Given the description of an element on the screen output the (x, y) to click on. 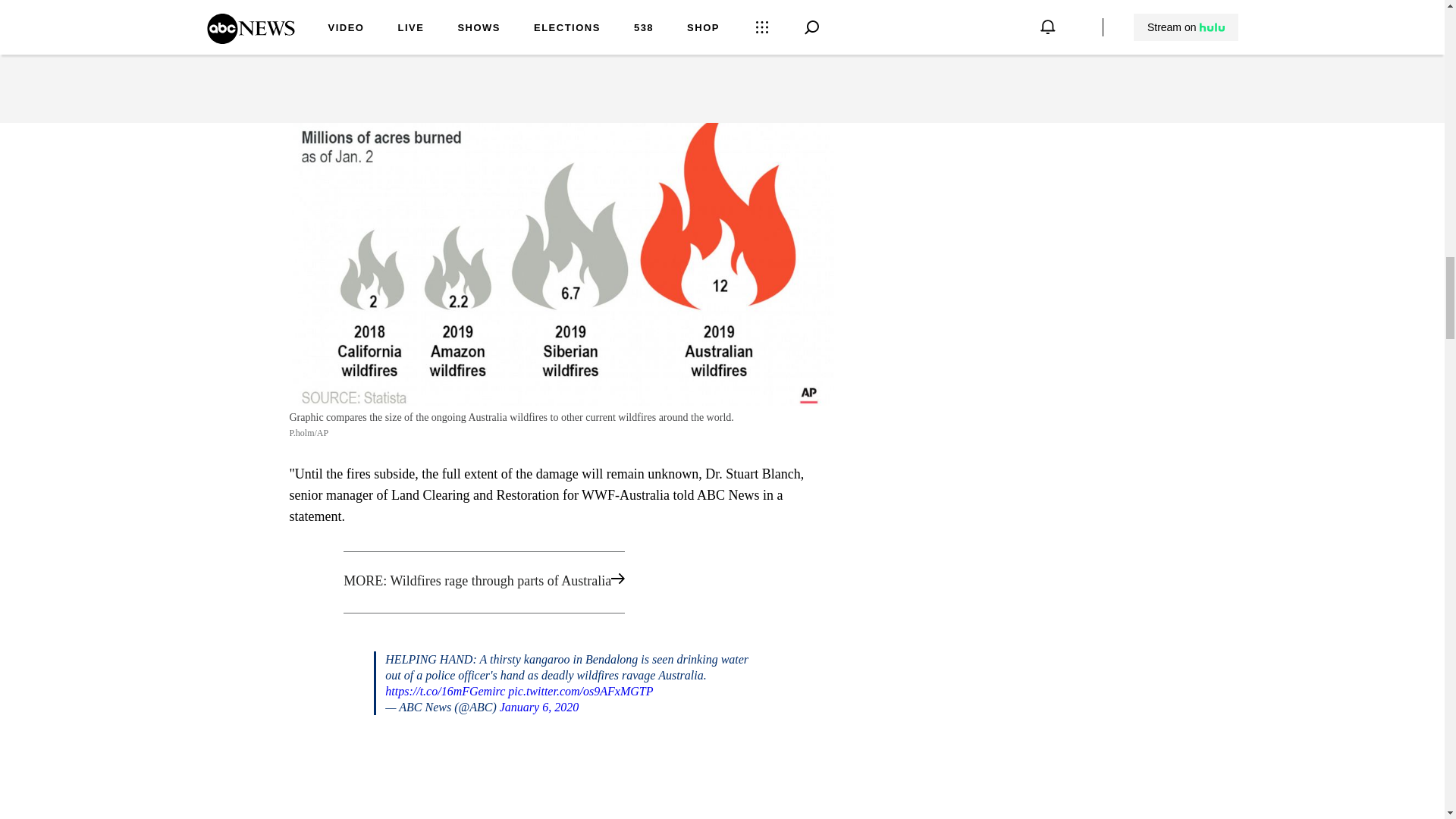
MORE: Wildfires rage through parts of Australia (560, 582)
January 6, 2020 (538, 707)
